Given the description of an element on the screen output the (x, y) to click on. 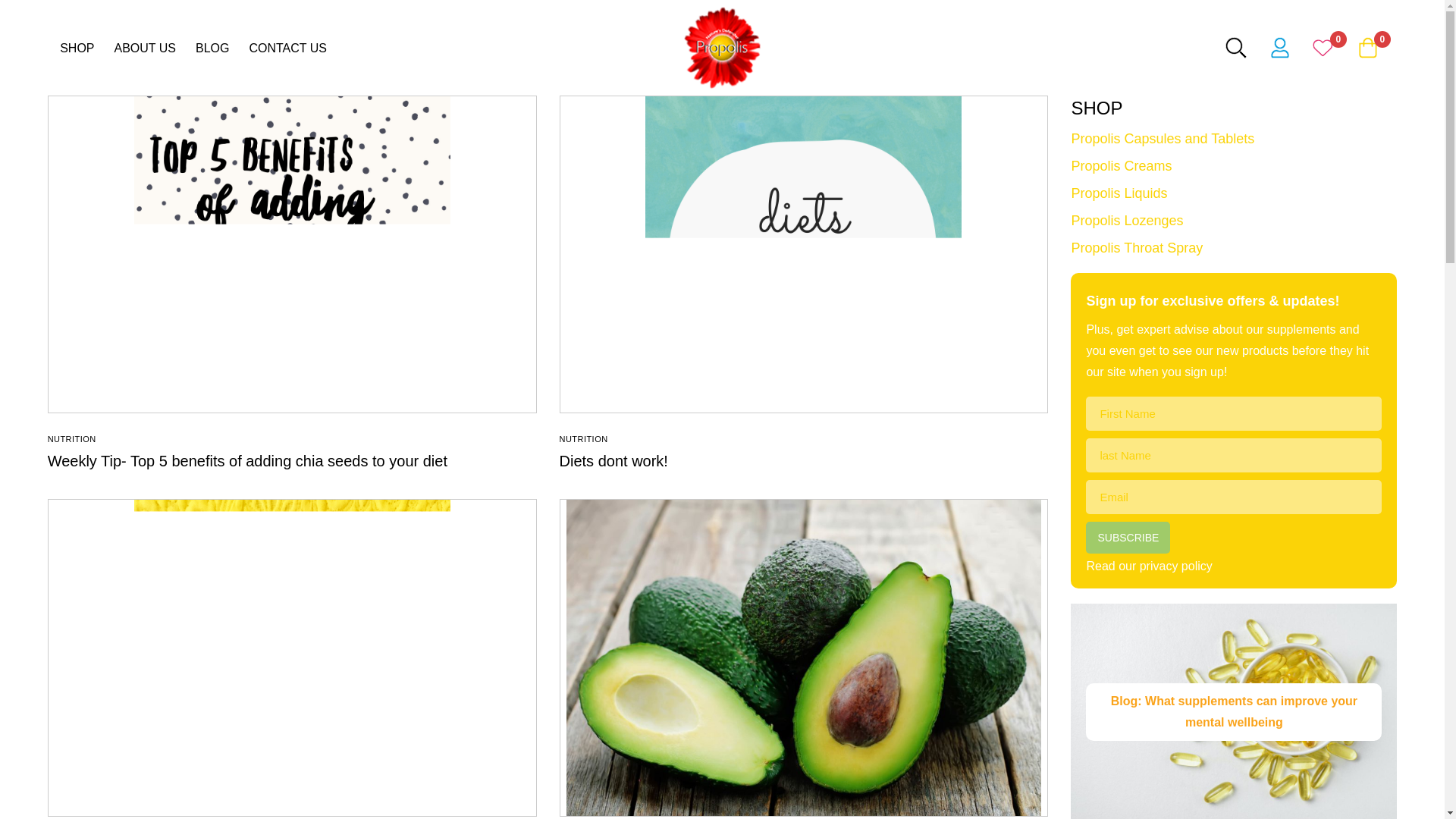
0 (1324, 47)
0 (1367, 47)
CONTACT US (287, 47)
NUTRITION (72, 439)
SHOP (77, 47)
Nutrition (72, 439)
Nutrition (583, 439)
